Given the description of an element on the screen output the (x, y) to click on. 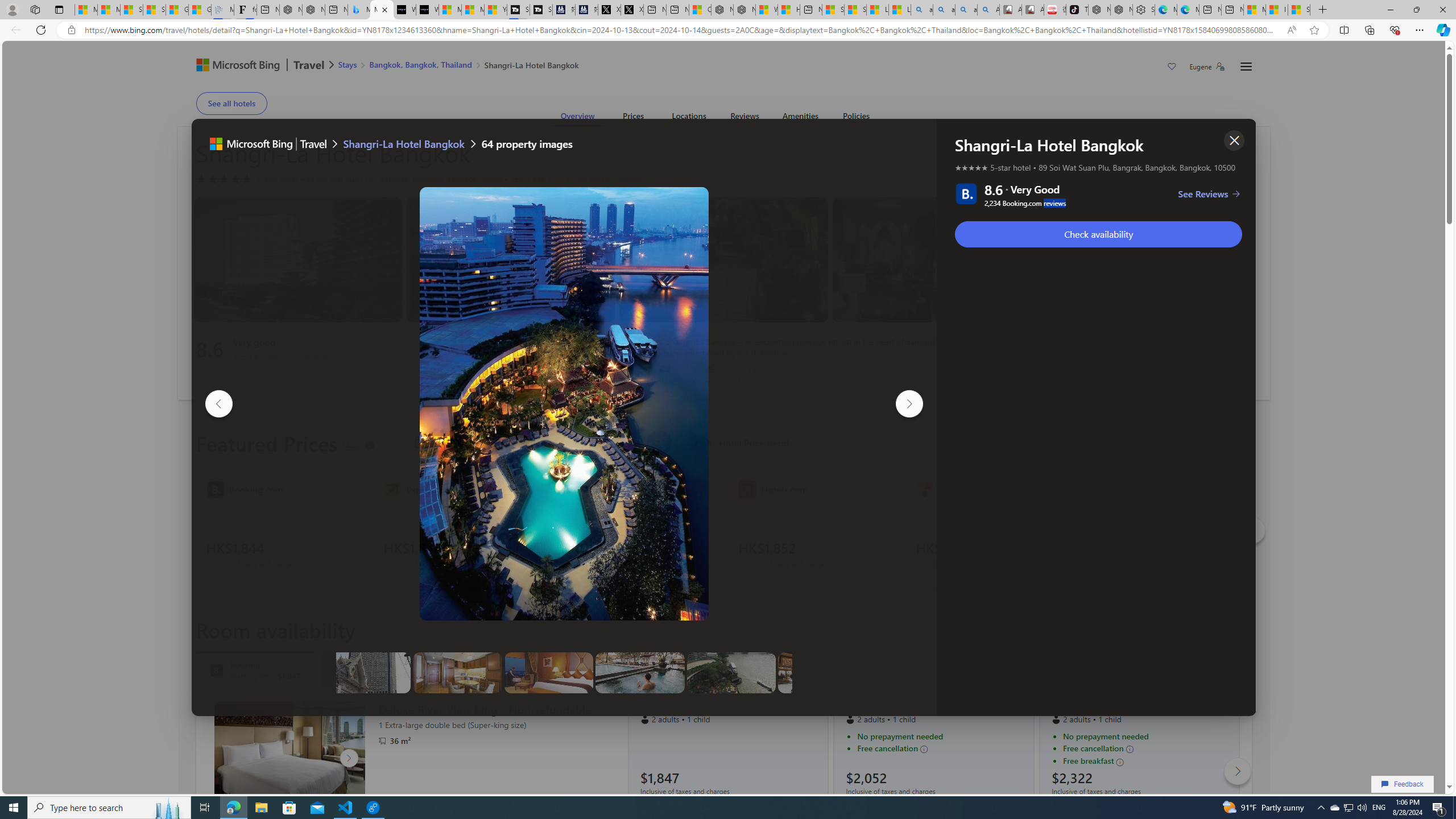
Amazon Echo Robot - Search Images (988, 9)
